Given the description of an element on the screen output the (x, y) to click on. 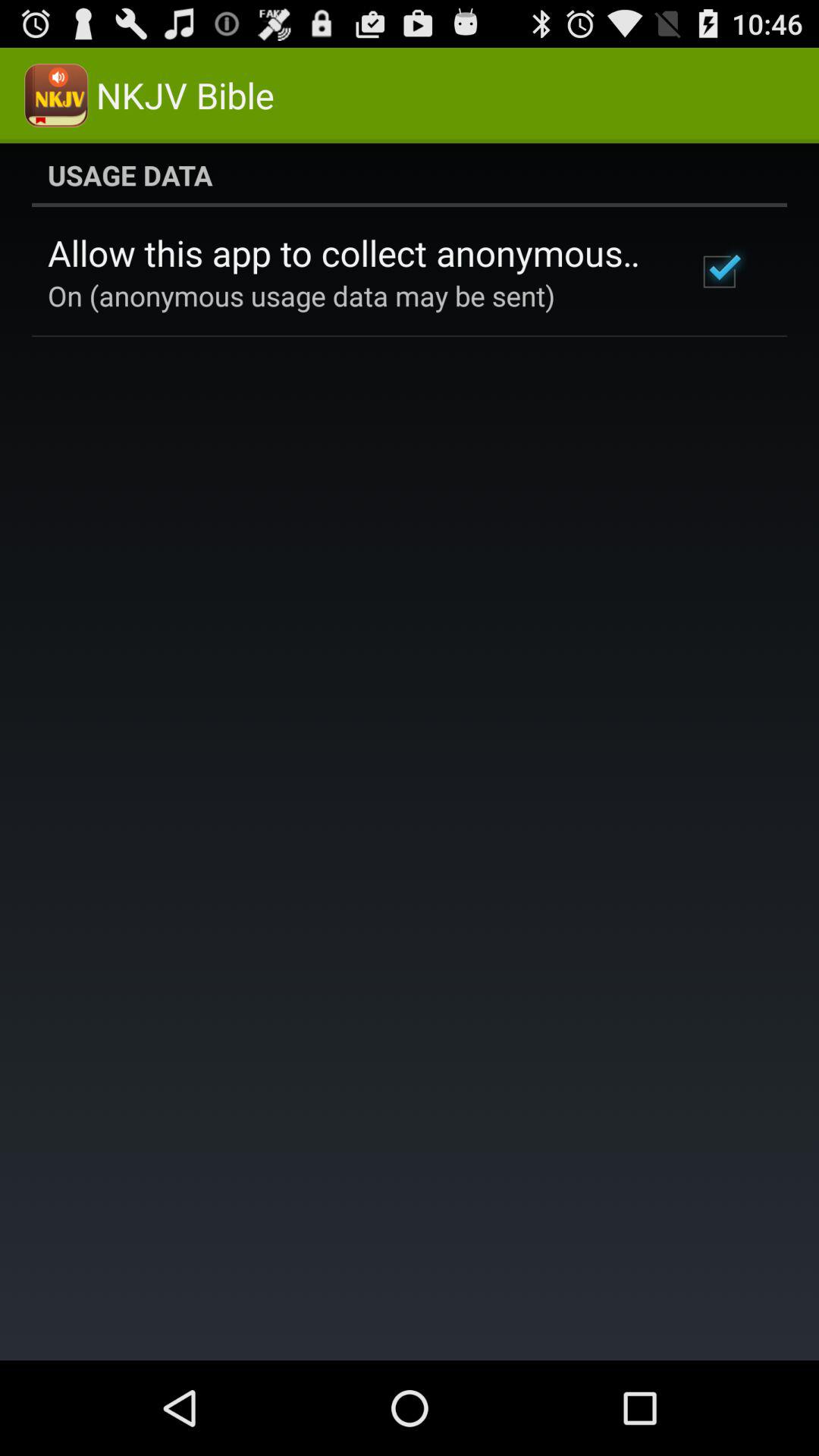
choose the icon at the top right corner (719, 271)
